Given the description of an element on the screen output the (x, y) to click on. 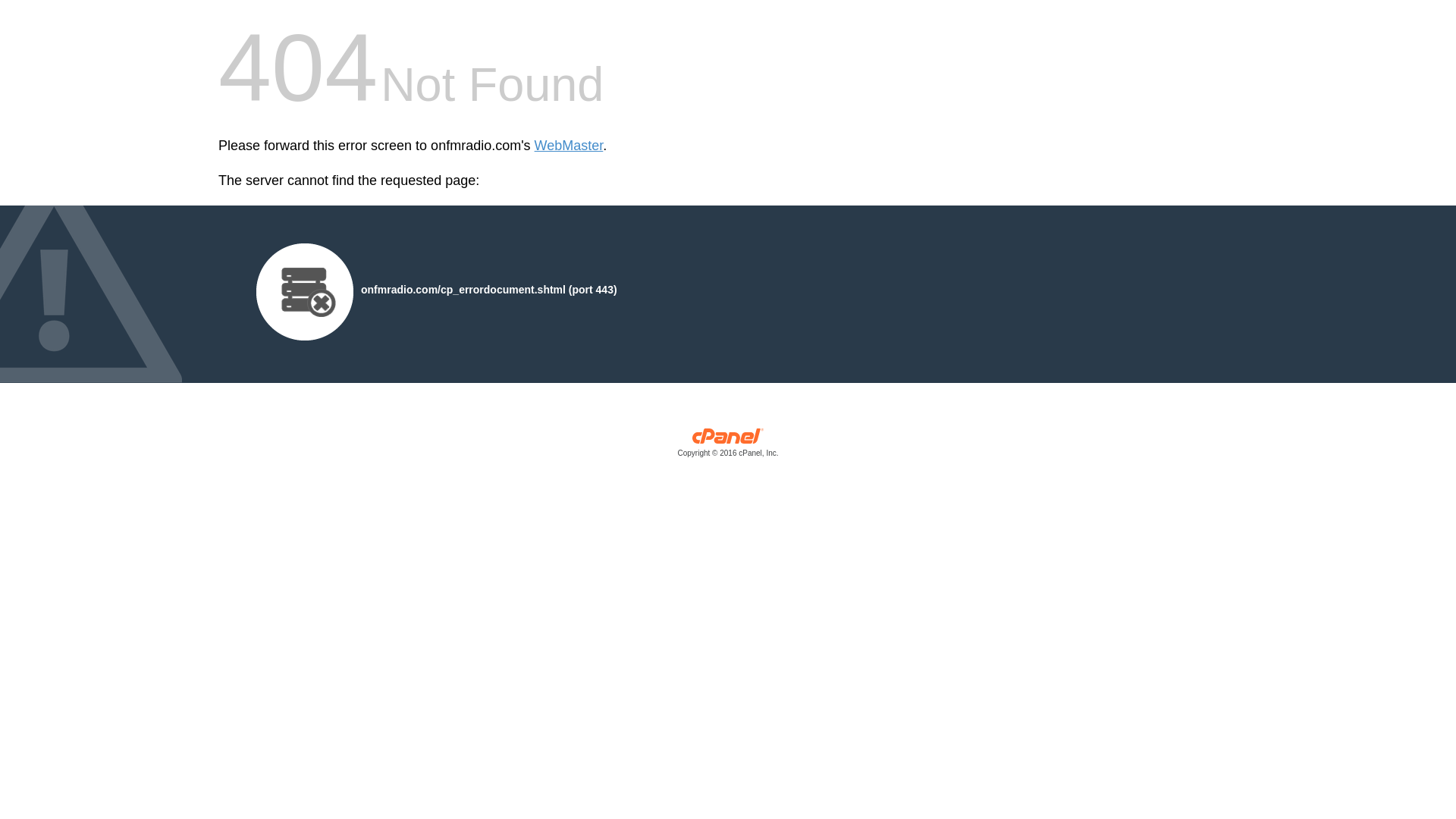
cPanel, Inc. (727, 446)
WebMaster (569, 145)
